Given the description of an element on the screen output the (x, y) to click on. 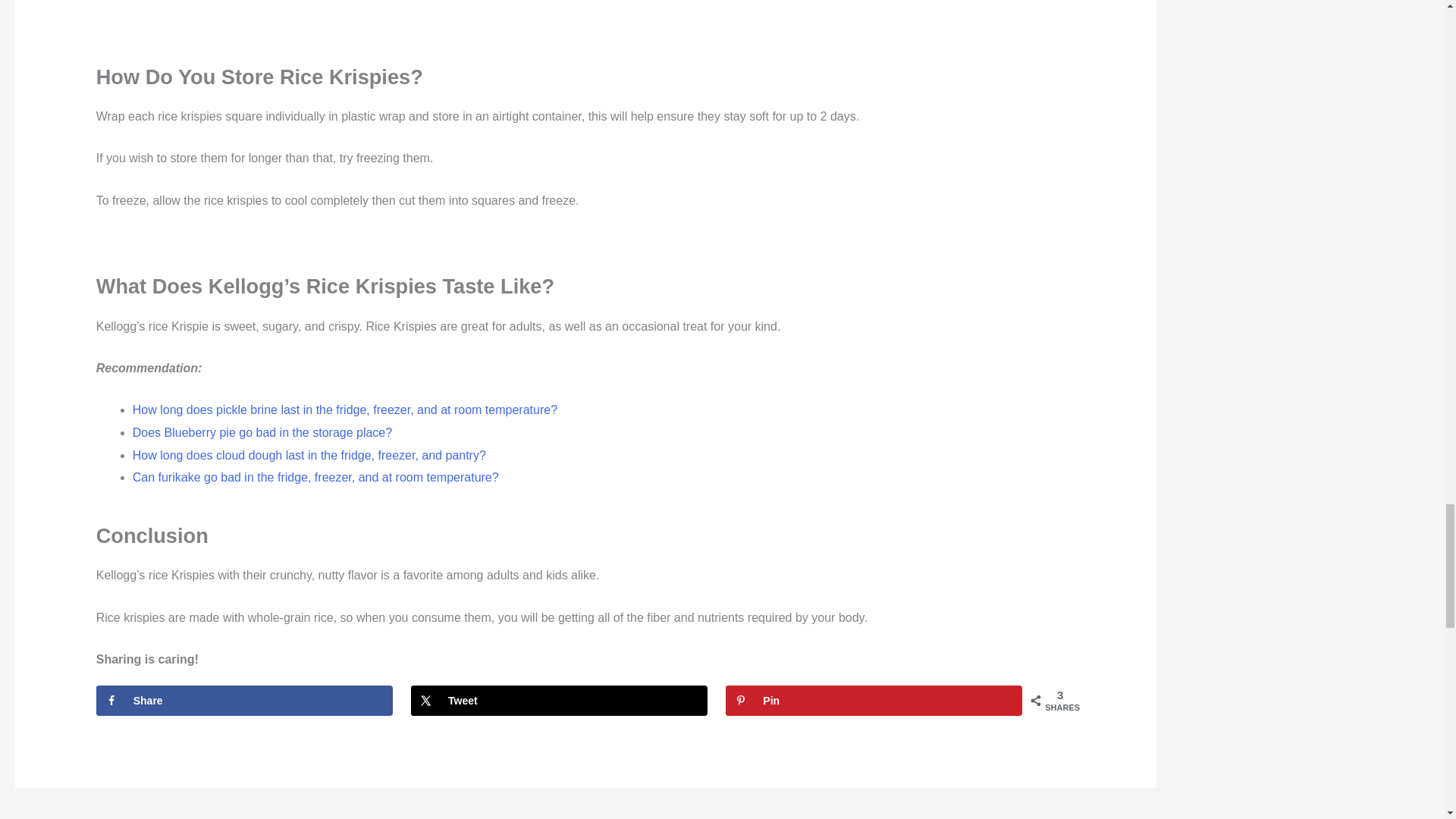
Does Blueberry pie go bad in the storage place? (261, 431)
